Given the description of an element on the screen output the (x, y) to click on. 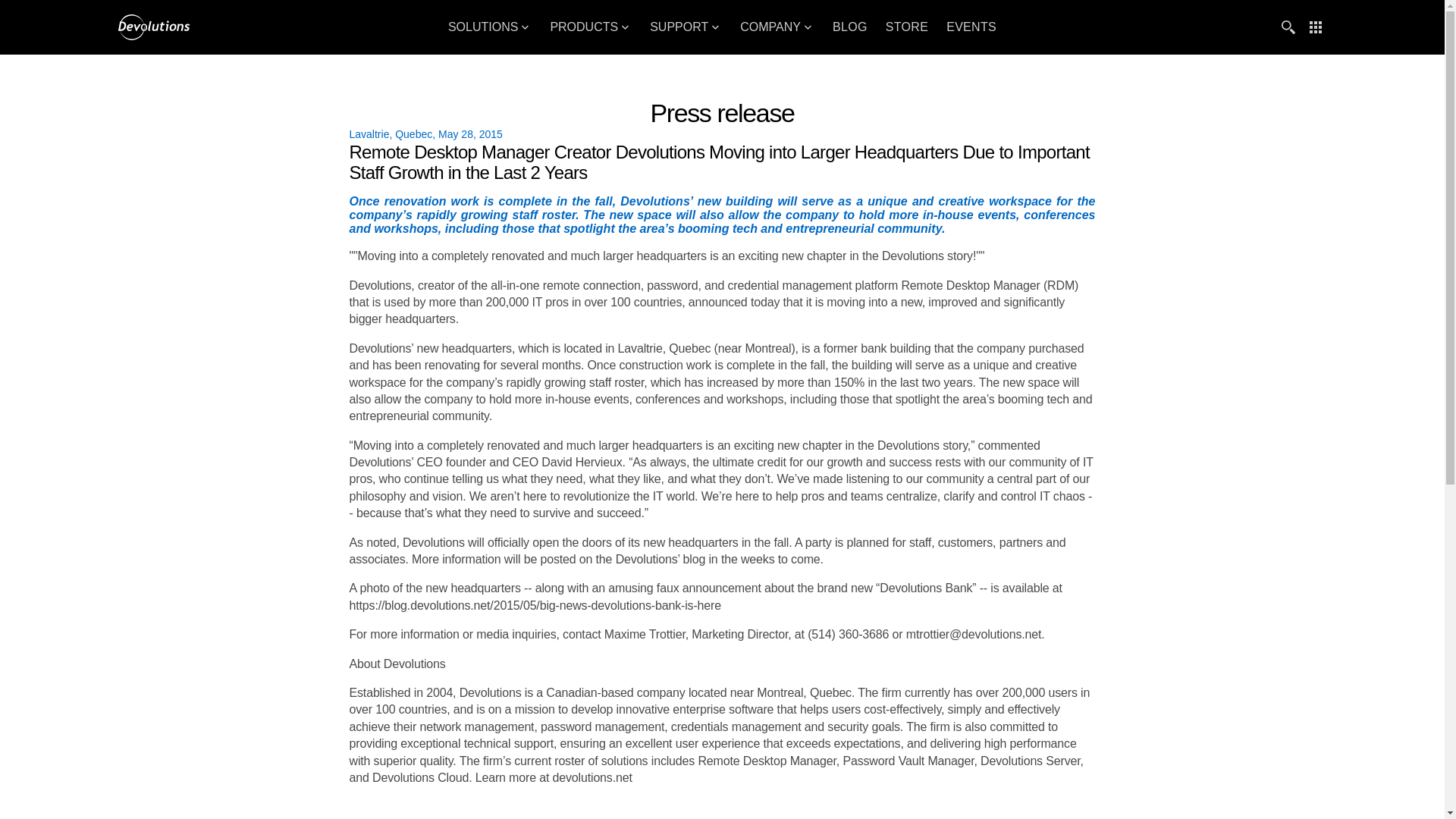
PRODUCTS (590, 27)
SOLUTIONS (489, 27)
SUPPORT (685, 27)
COMPANY (777, 27)
